Given the description of an element on the screen output the (x, y) to click on. 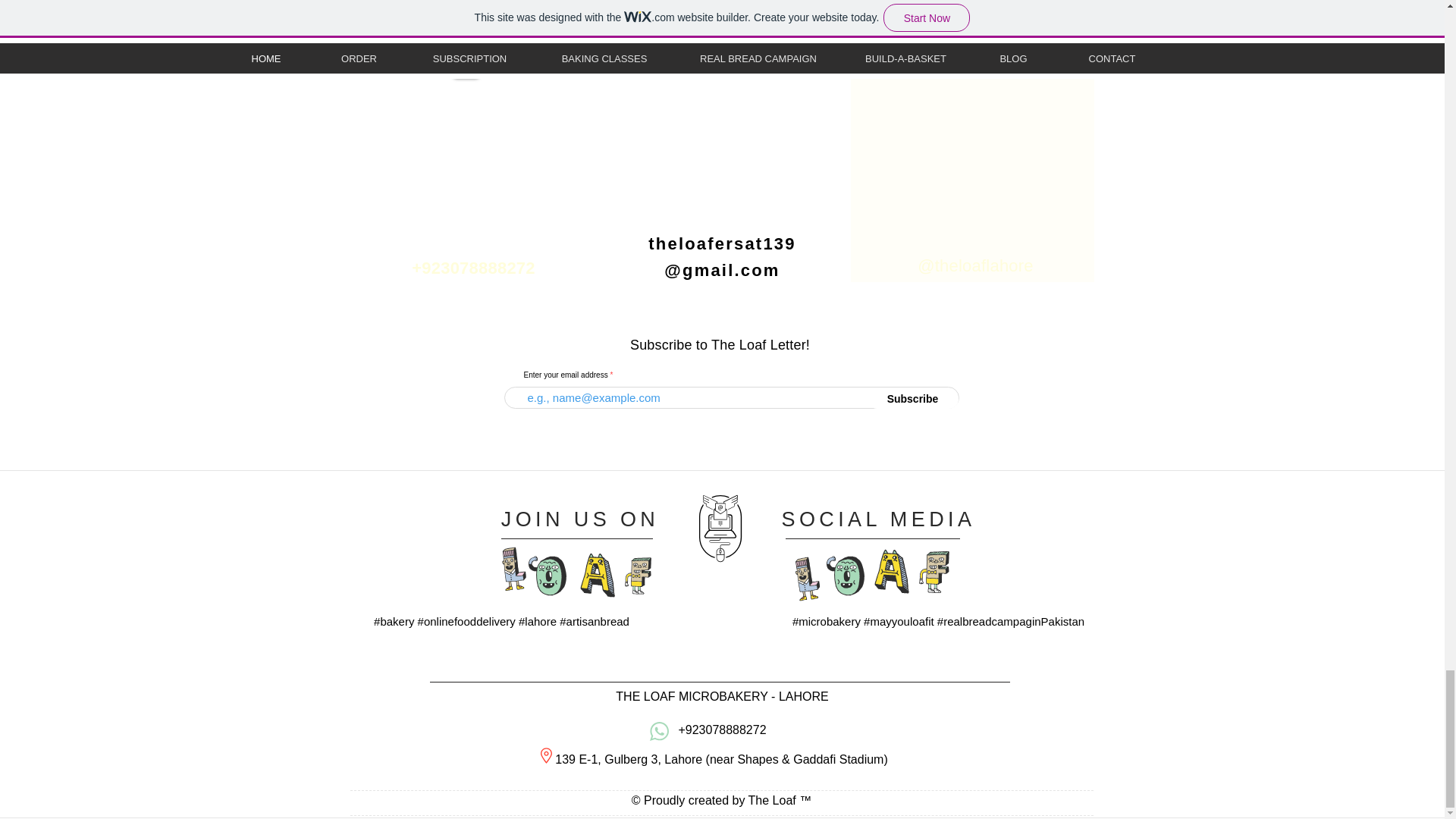
theloafersat139 (720, 243)
Subscribe (912, 398)
